Given the description of an element on the screen output the (x, y) to click on. 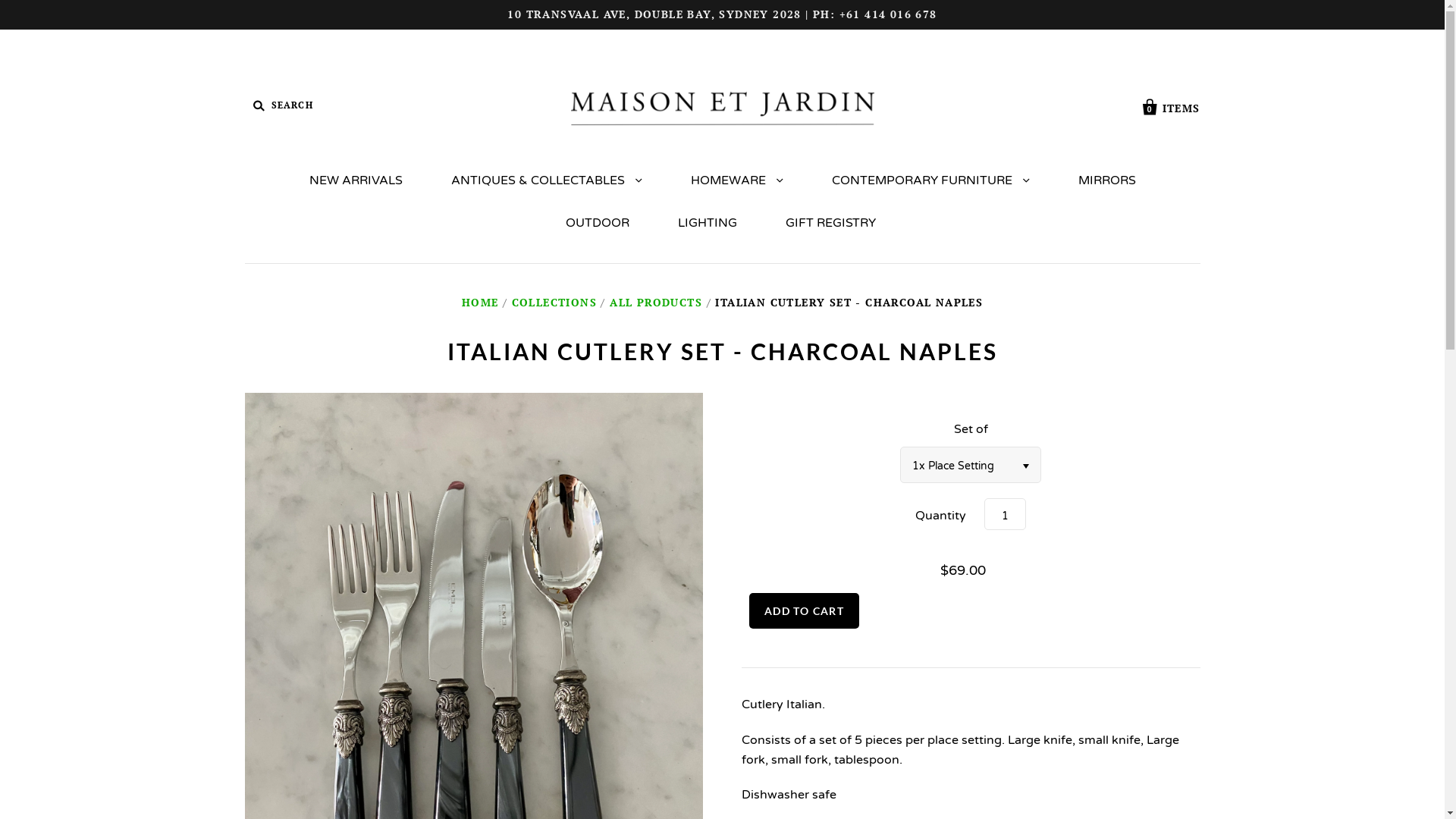
HOME Element type: text (479, 301)
GIFT REGISTRY Element type: text (830, 222)
OUTDOOR Element type: text (597, 222)
0
ITEMS Element type: text (1171, 104)
CONTEMPORARY FURNITURE Element type: text (929, 180)
COLLECTIONS Element type: text (553, 301)
HOMEWARE Element type: text (736, 180)
ALL PRODUCTS Element type: text (655, 301)
LIGHTING Element type: text (707, 222)
NEW ARRIVALS Element type: text (355, 180)
Add to cart Element type: text (804, 610)
ANTIQUES & COLLECTABLES Element type: text (545, 180)
MIRRORS Element type: text (1106, 180)
